Given the description of an element on the screen output the (x, y) to click on. 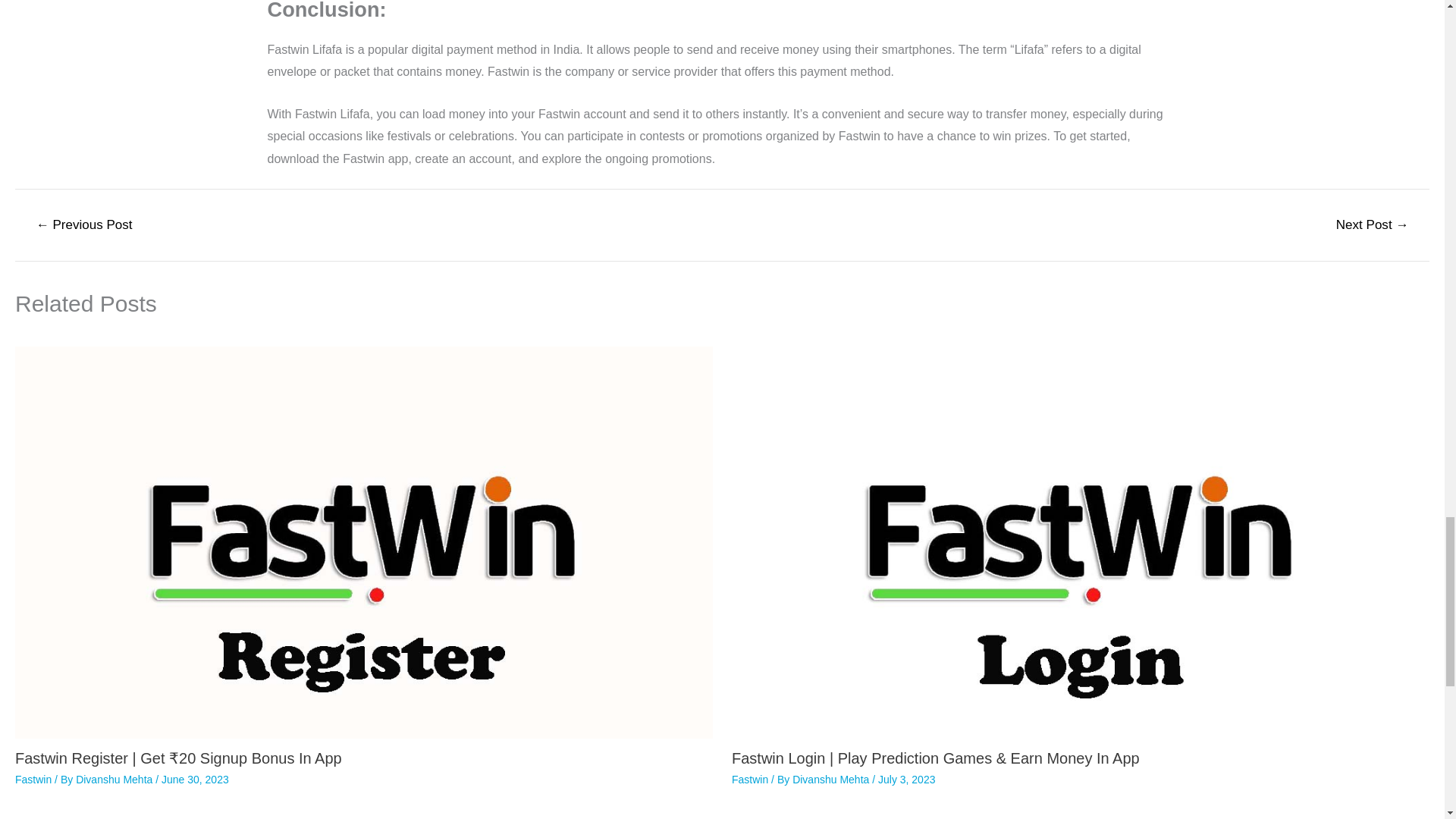
Fastwin (32, 779)
Divanshu Mehta (115, 779)
Fastwin (750, 779)
View all posts by Divanshu Mehta (832, 779)
Divanshu Mehta (832, 779)
View all posts by Divanshu Mehta (115, 779)
